Given the description of an element on the screen output the (x, y) to click on. 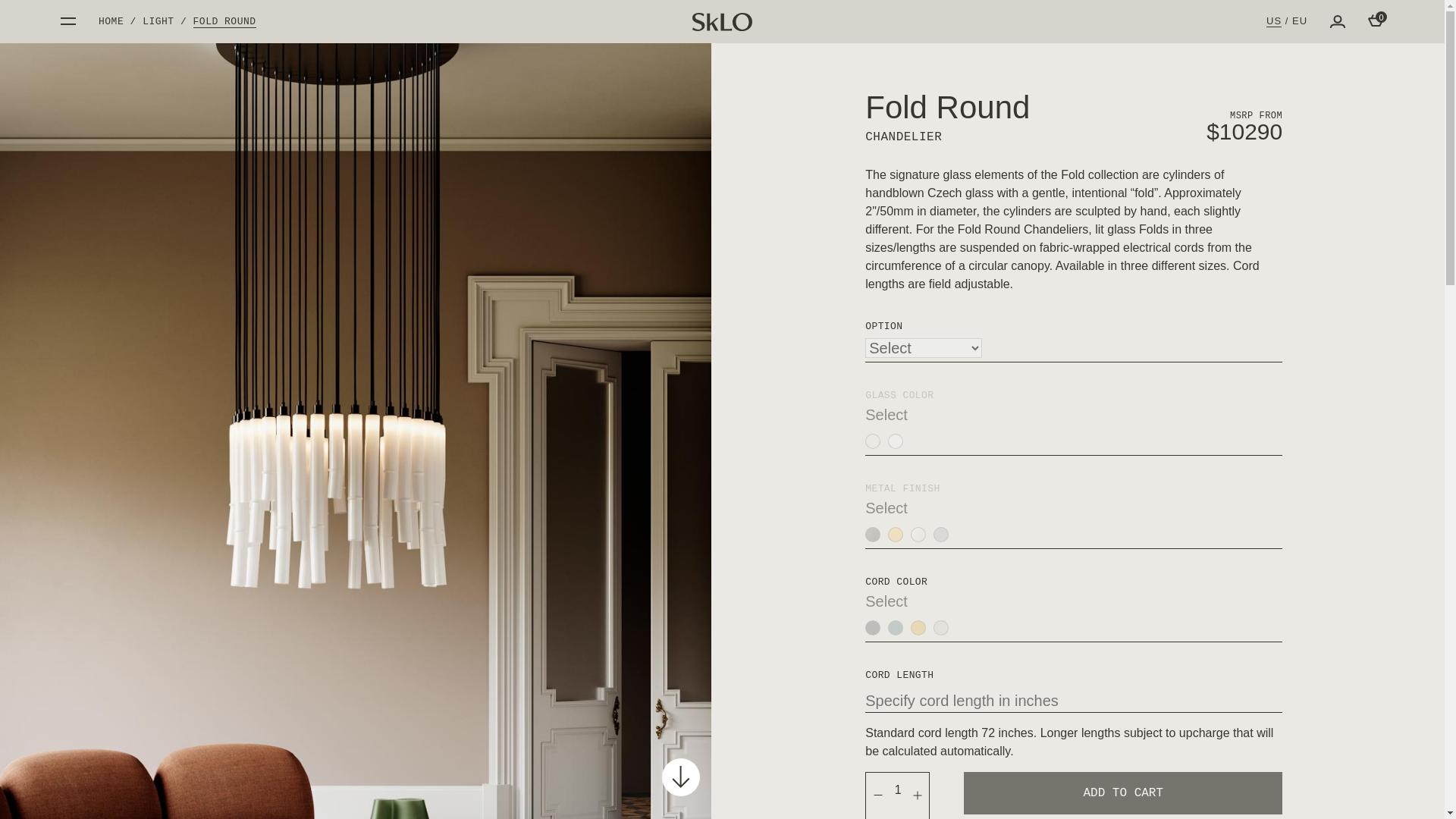
0 (1376, 19)
EU (1299, 20)
ADD TO CART (1122, 793)
HOME (111, 21)
LIGHT (158, 21)
US (1273, 21)
Open side menu (68, 21)
